Given the description of an element on the screen output the (x, y) to click on. 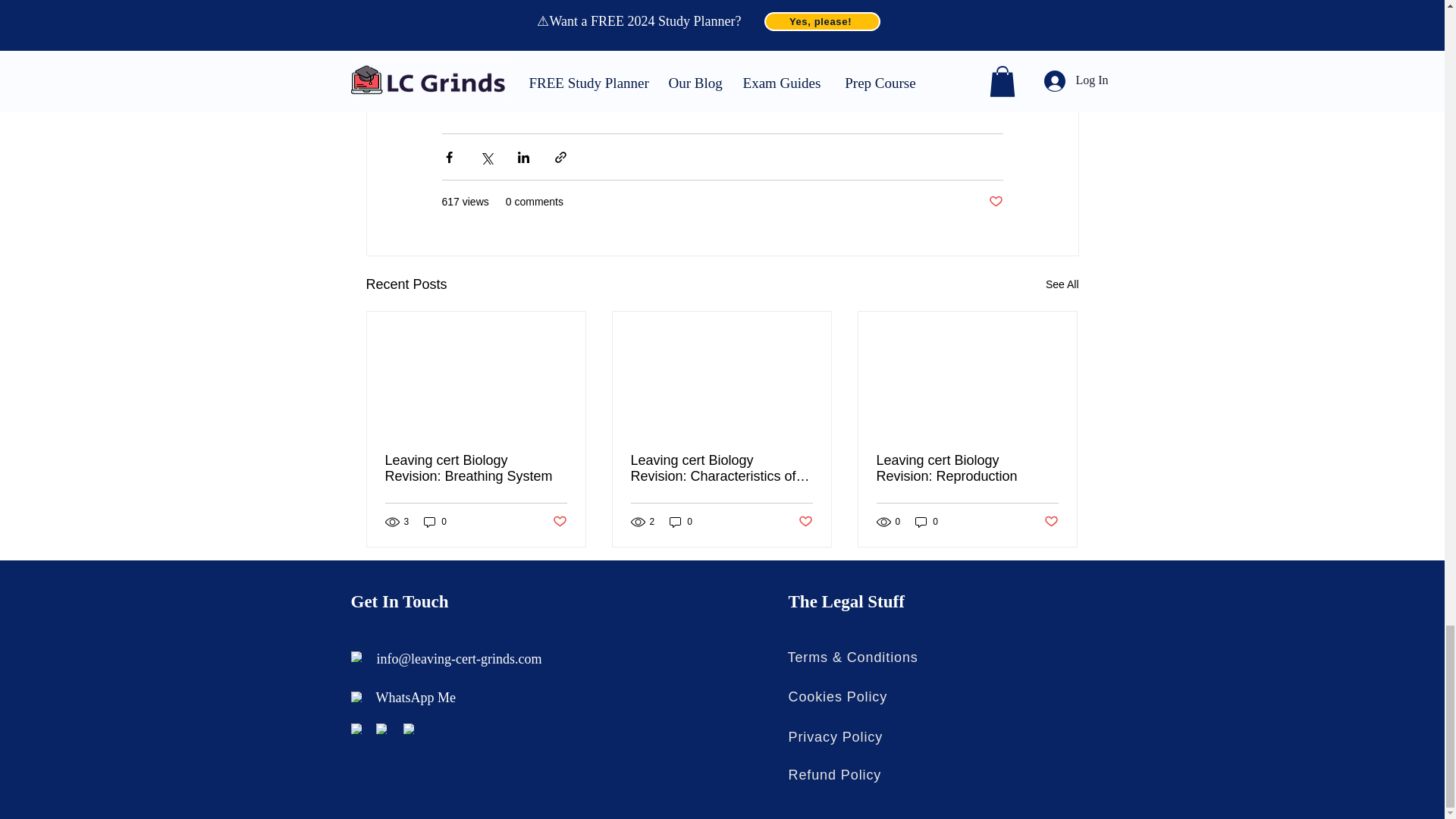
See All (1061, 284)
Post not marked as liked (558, 521)
Post not marked as liked (995, 201)
Post not marked as liked (804, 521)
Leaving cert Biology Revision: Characteristics of Life (721, 468)
0 (681, 522)
Leaving cert Biology Revision: Breathing System (476, 468)
0 (435, 522)
